Given the description of an element on the screen output the (x, y) to click on. 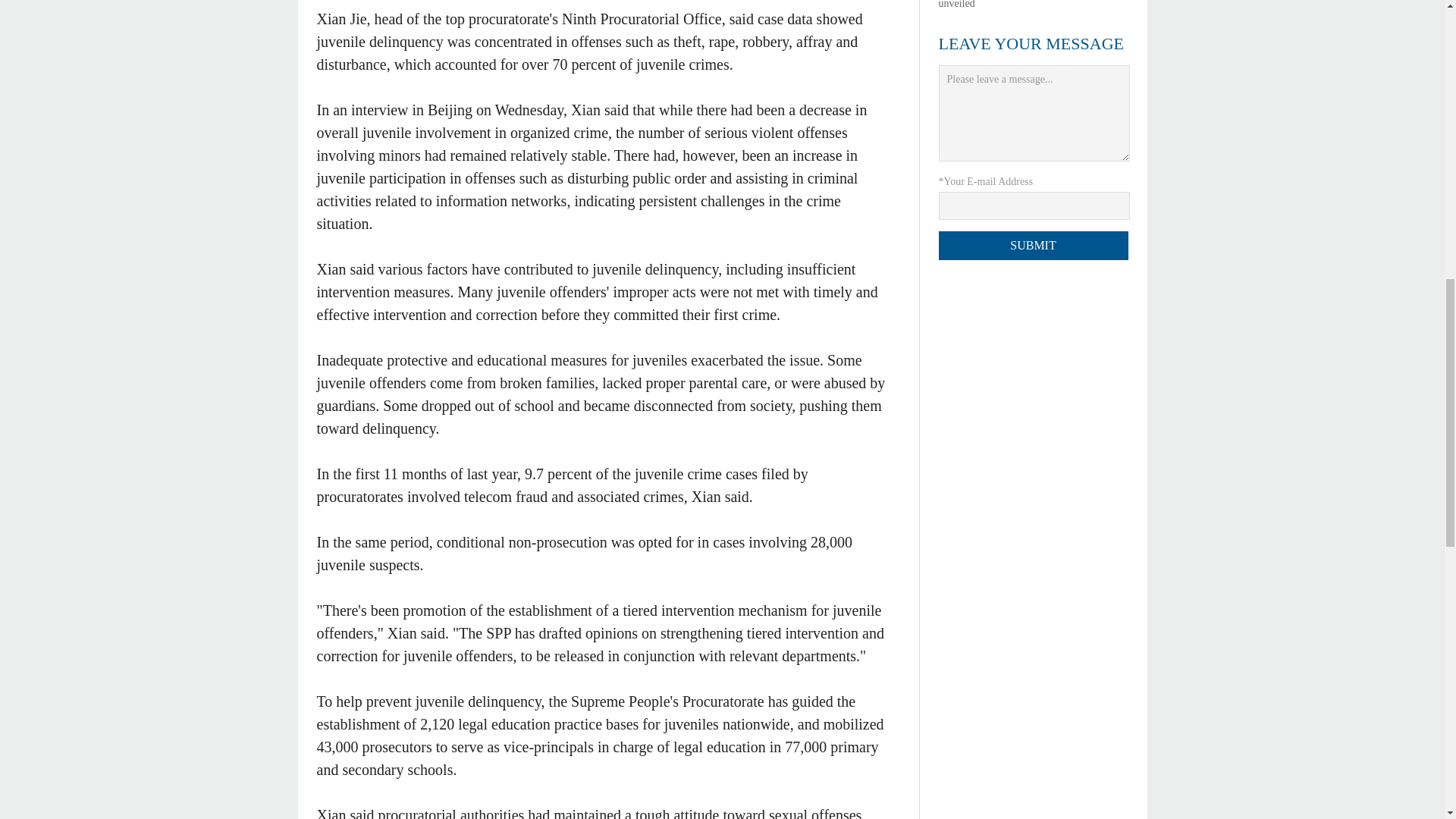
Posters: Legislative priorities in 2024 unveiled (1018, 4)
LEAVE YOUR MESSAGE (1031, 43)
Submit (1033, 245)
Submit (1033, 245)
